Given the description of an element on the screen output the (x, y) to click on. 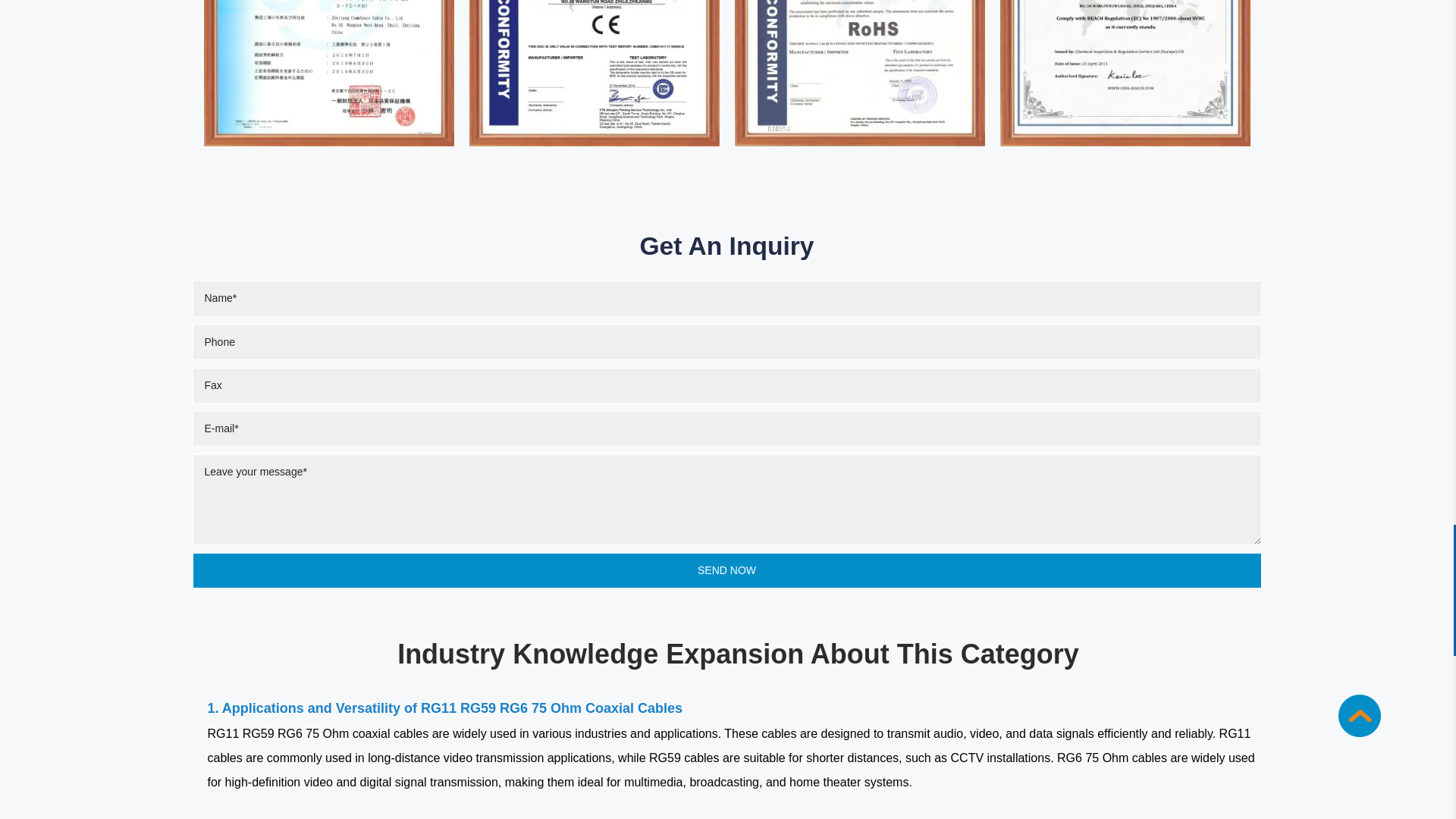
SEND NOW (727, 570)
